Given the description of an element on the screen output the (x, y) to click on. 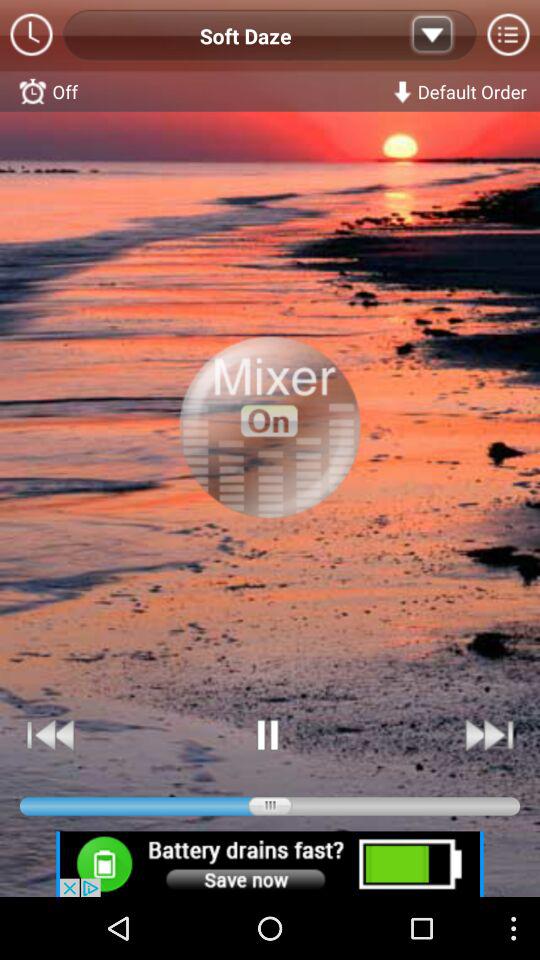
drop down button (432, 35)
